Given the description of an element on the screen output the (x, y) to click on. 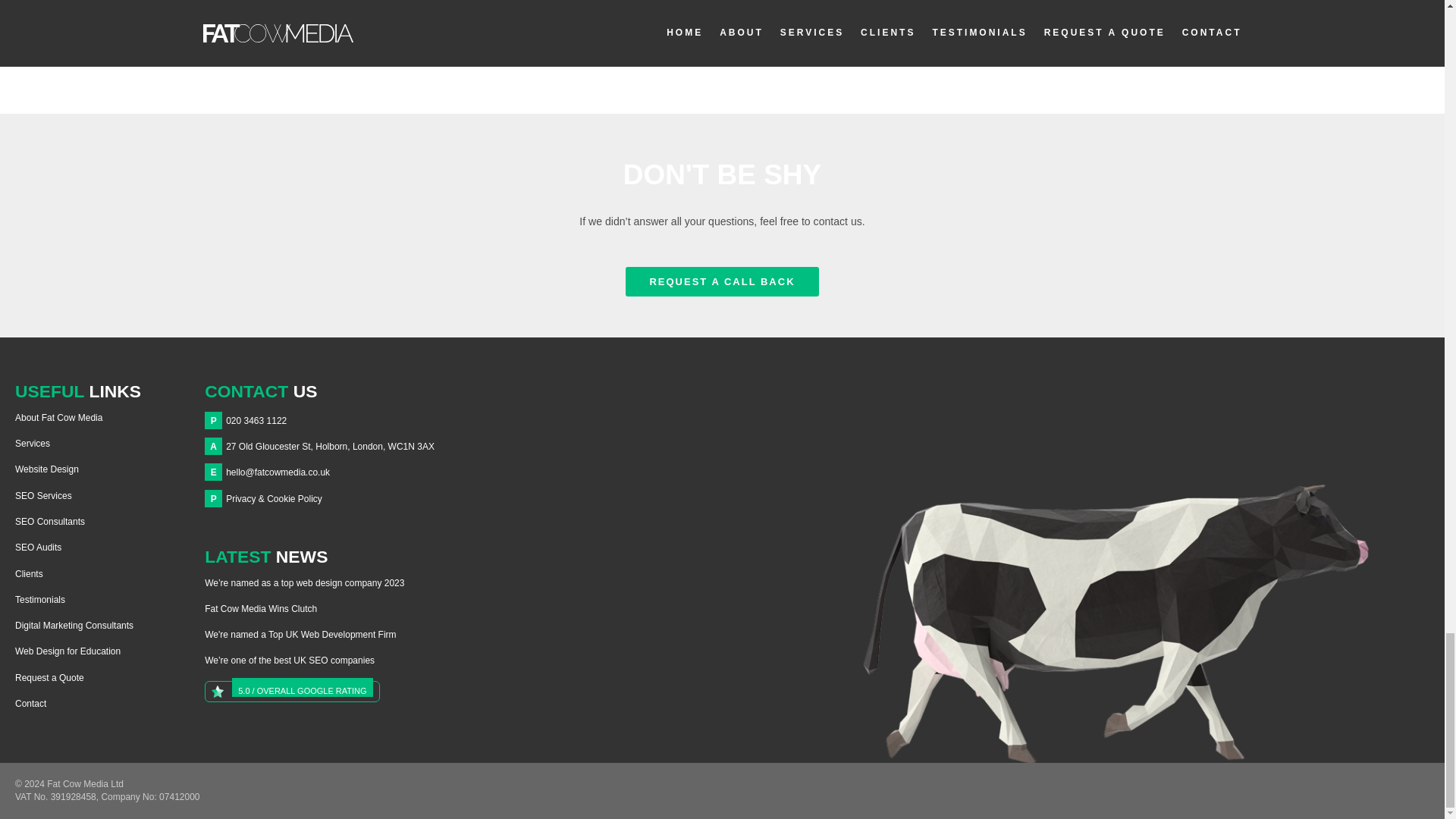
REQUEST A CALL BACK (722, 281)
Clients (28, 573)
SEO Audits (37, 547)
About Fat Cow Media (57, 417)
SEO Consultants (49, 521)
Web Design for Education (67, 651)
SEO Services (42, 495)
Testimonials (39, 599)
Services (31, 443)
Request a Quote (49, 677)
Digital Marketing Consultants (73, 624)
Website Design (46, 469)
